Given the description of an element on the screen output the (x, y) to click on. 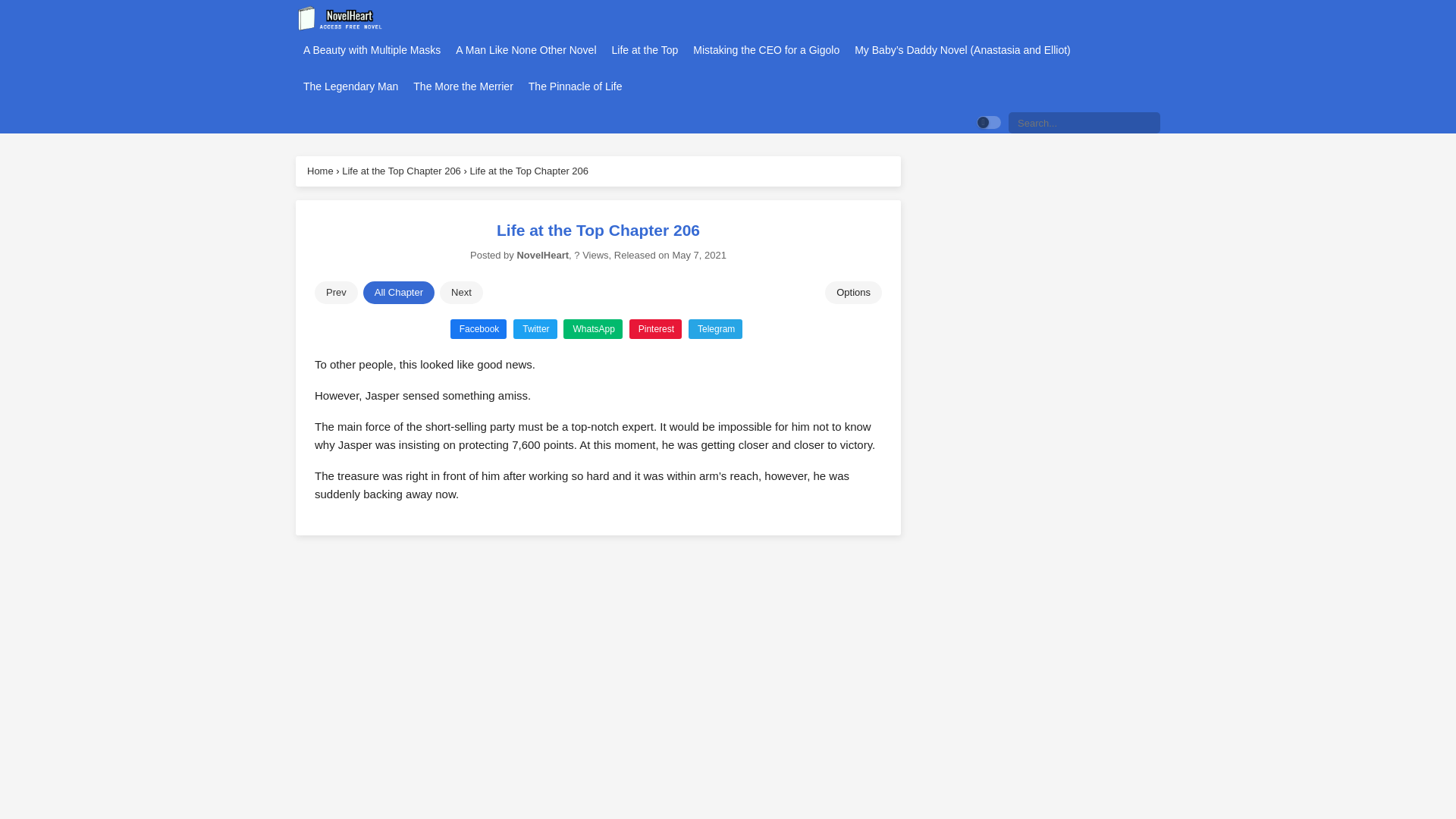
Life at the Top Chapter 206 (401, 170)
Next (461, 292)
All Chapter (397, 292)
The Legendary Man (350, 85)
Pinterest (654, 328)
Home (320, 170)
Mistaking the CEO for a Gigolo (765, 49)
WhatsApp (592, 328)
Twitter (534, 328)
A Beauty with Multiple Masks (371, 49)
Life at the Top Chapter 206 (528, 170)
NovelHeart - Read online free Novel (341, 17)
A Man Like None Other Novel (525, 49)
The Pinnacle of Life (575, 85)
Life at the Top (645, 49)
